Given the description of an element on the screen output the (x, y) to click on. 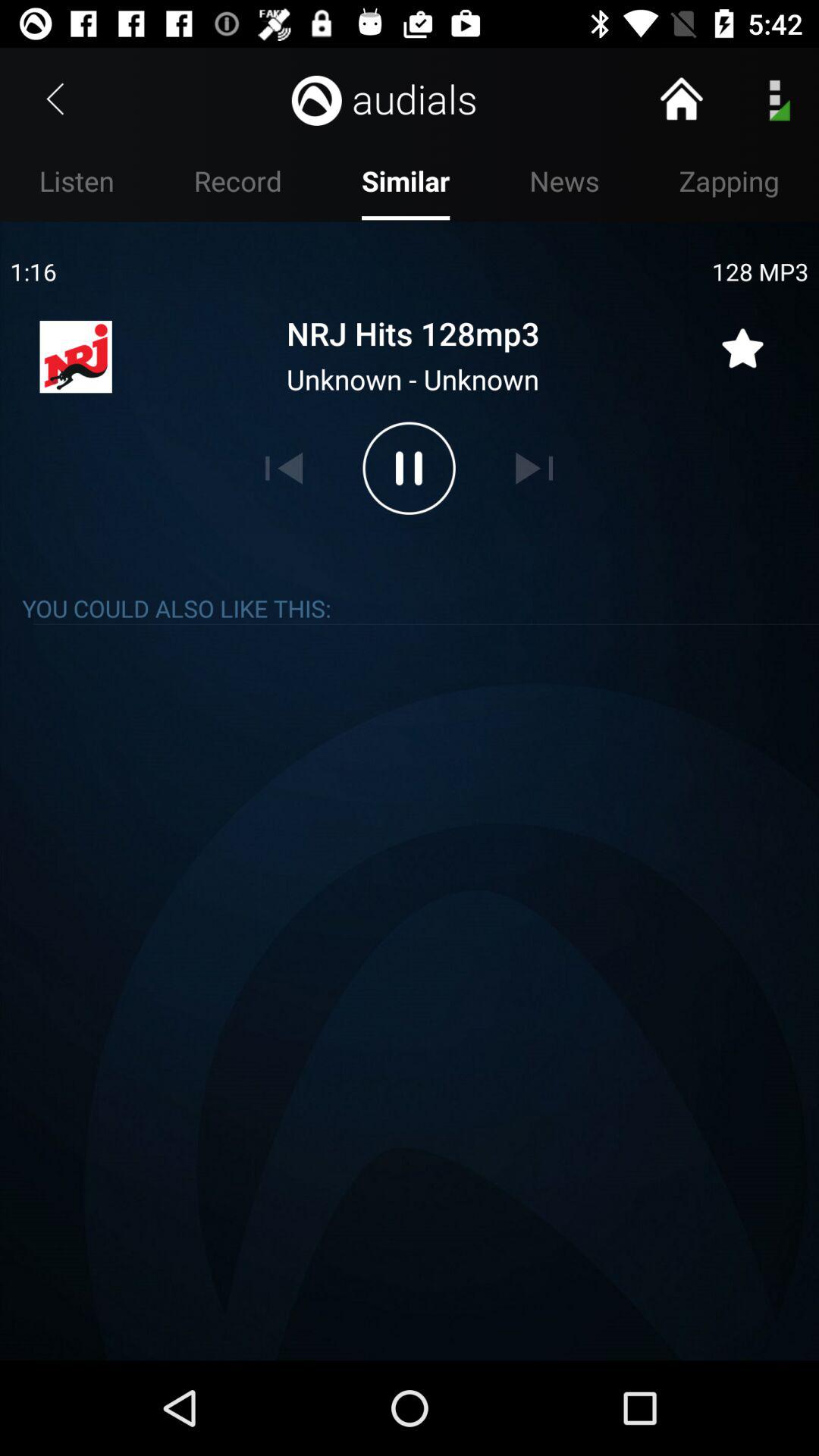
favorite this track (742, 339)
